Given the description of an element on the screen output the (x, y) to click on. 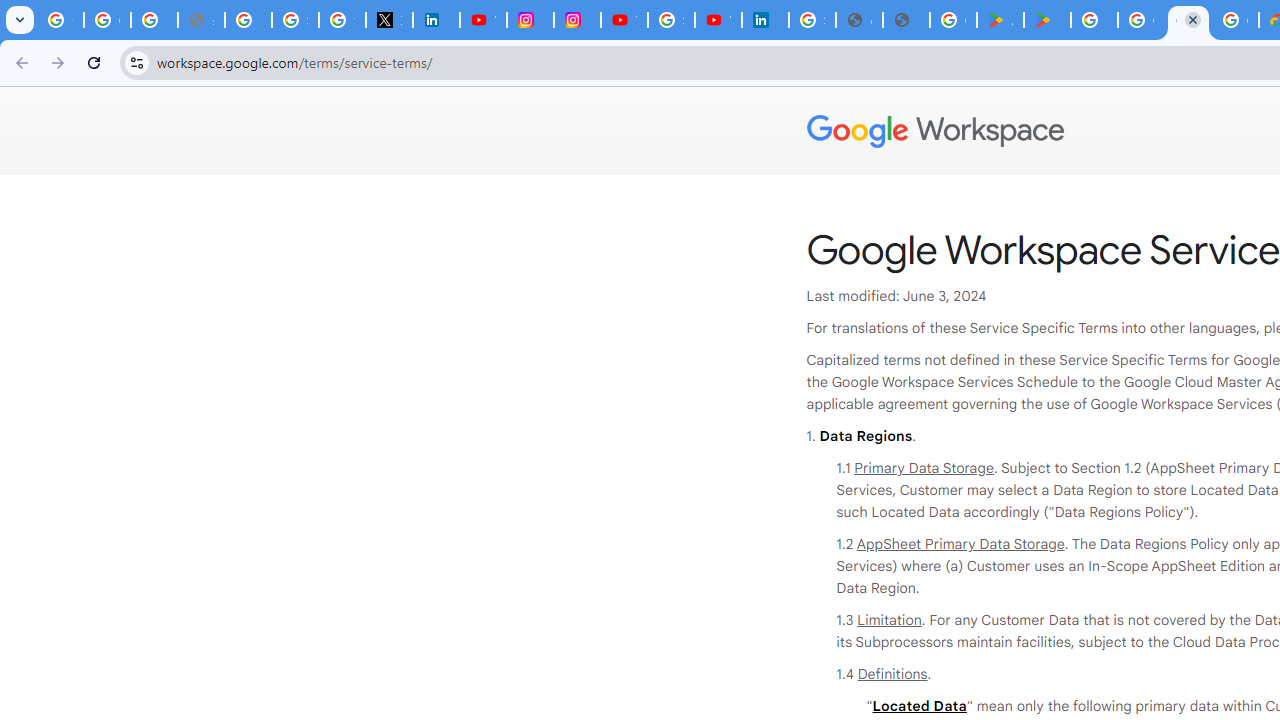
YouTube Content Monetization Policies - How YouTube Works (482, 20)
Sign in - Google Accounts (294, 20)
support.google.com - Network error (201, 20)
LinkedIn Privacy Policy (436, 20)
Privacy Help Center - Policies Help (248, 20)
Google Workspace - Specific Terms (1188, 20)
